Given the description of an element on the screen output the (x, y) to click on. 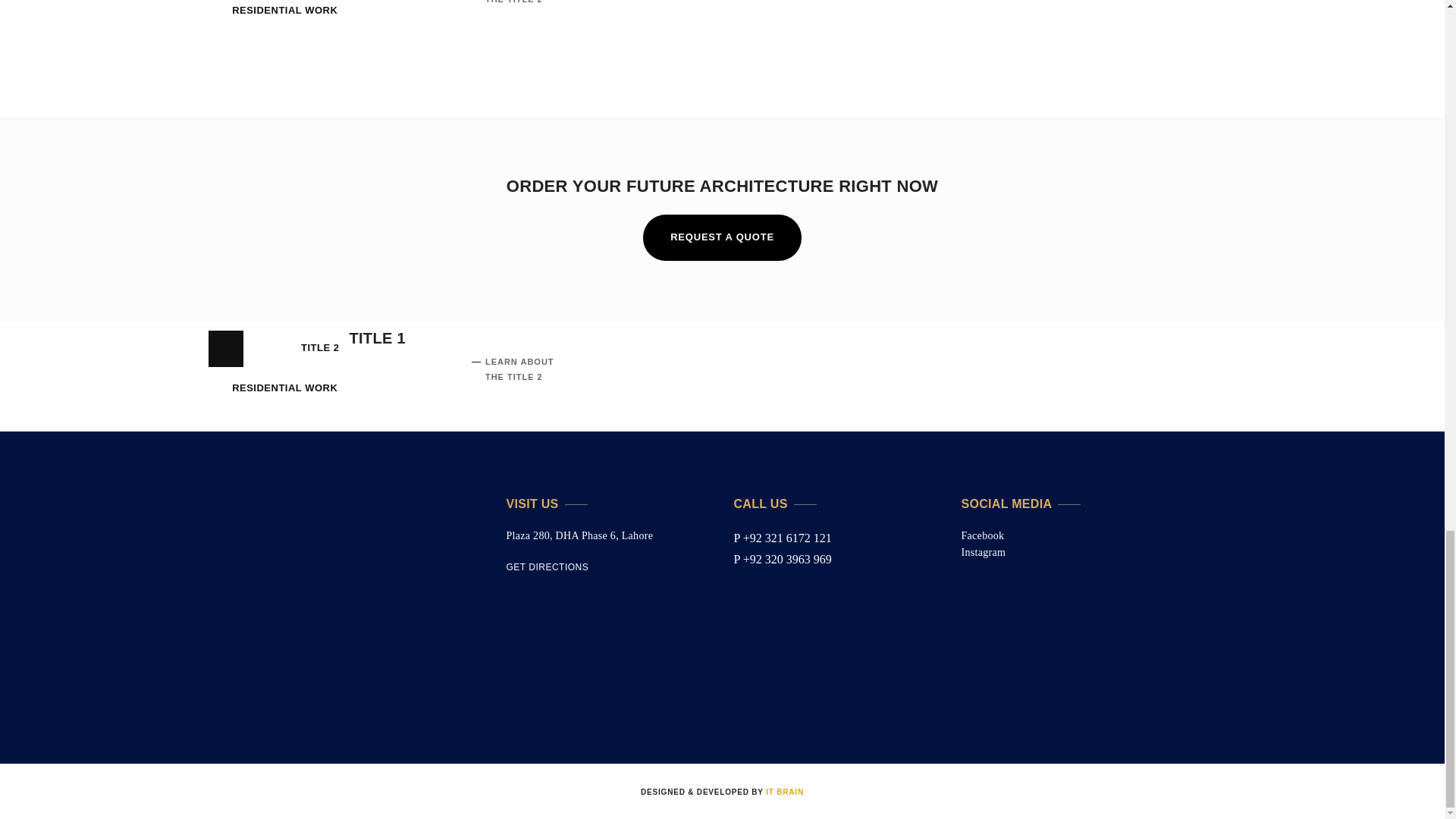
REQUEST A QUOTE (722, 237)
Instagram (983, 552)
RESIDENTIAL WORK (284, 15)
GET DIRECTIONS (547, 567)
LEARN ABOUT THE TITLE 2 (519, 2)
Facebook (982, 535)
IT BRAIN (784, 791)
LEARN ABOUT THE TITLE 2 (519, 369)
